Given the description of an element on the screen output the (x, y) to click on. 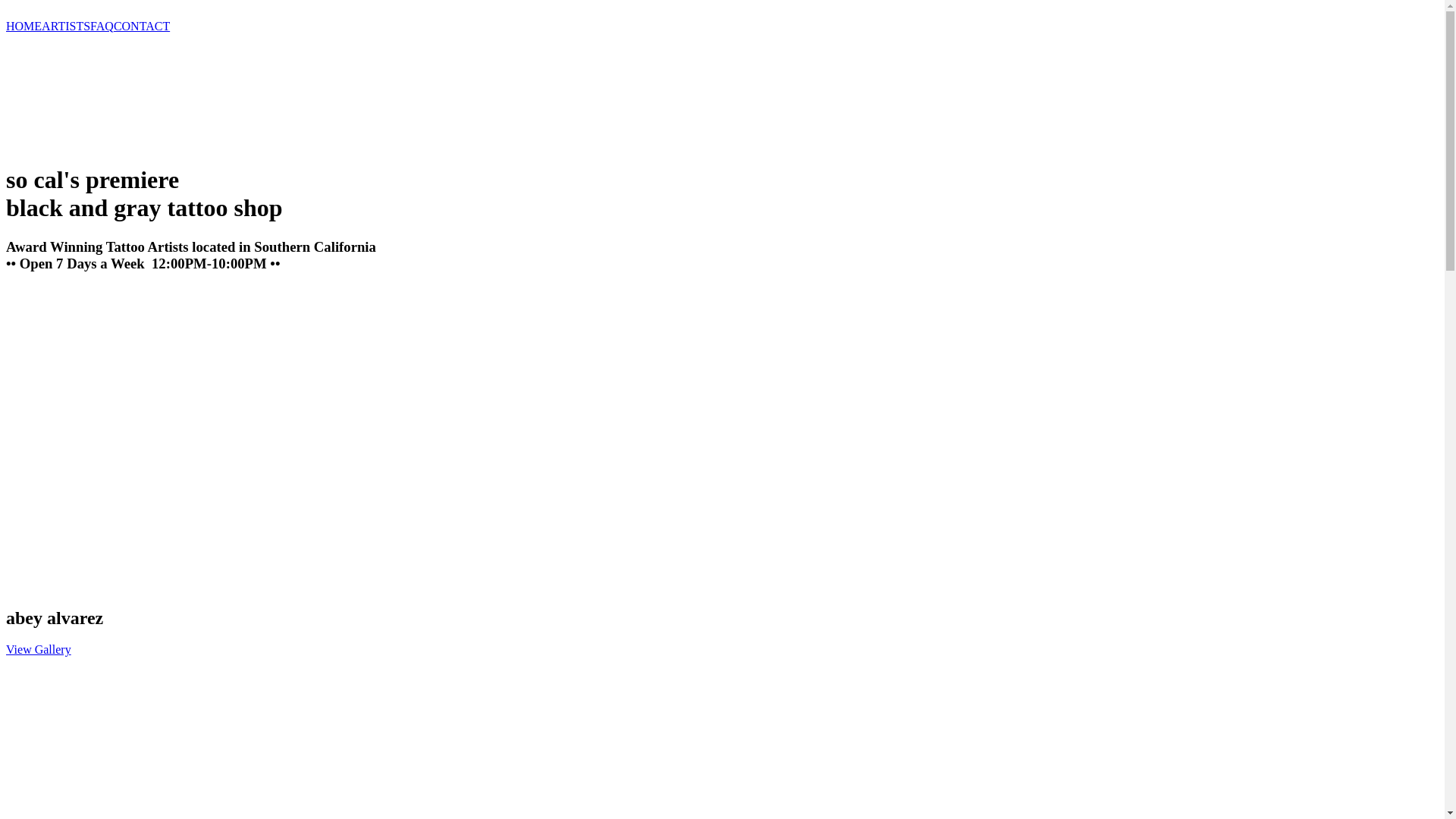
View Gallery Element type: text (38, 649)
FAQ Element type: text (101, 25)
ARTISTS Element type: text (65, 25)
CONTACT Element type: text (141, 25)
HOME Element type: text (23, 25)
